Given the description of an element on the screen output the (x, y) to click on. 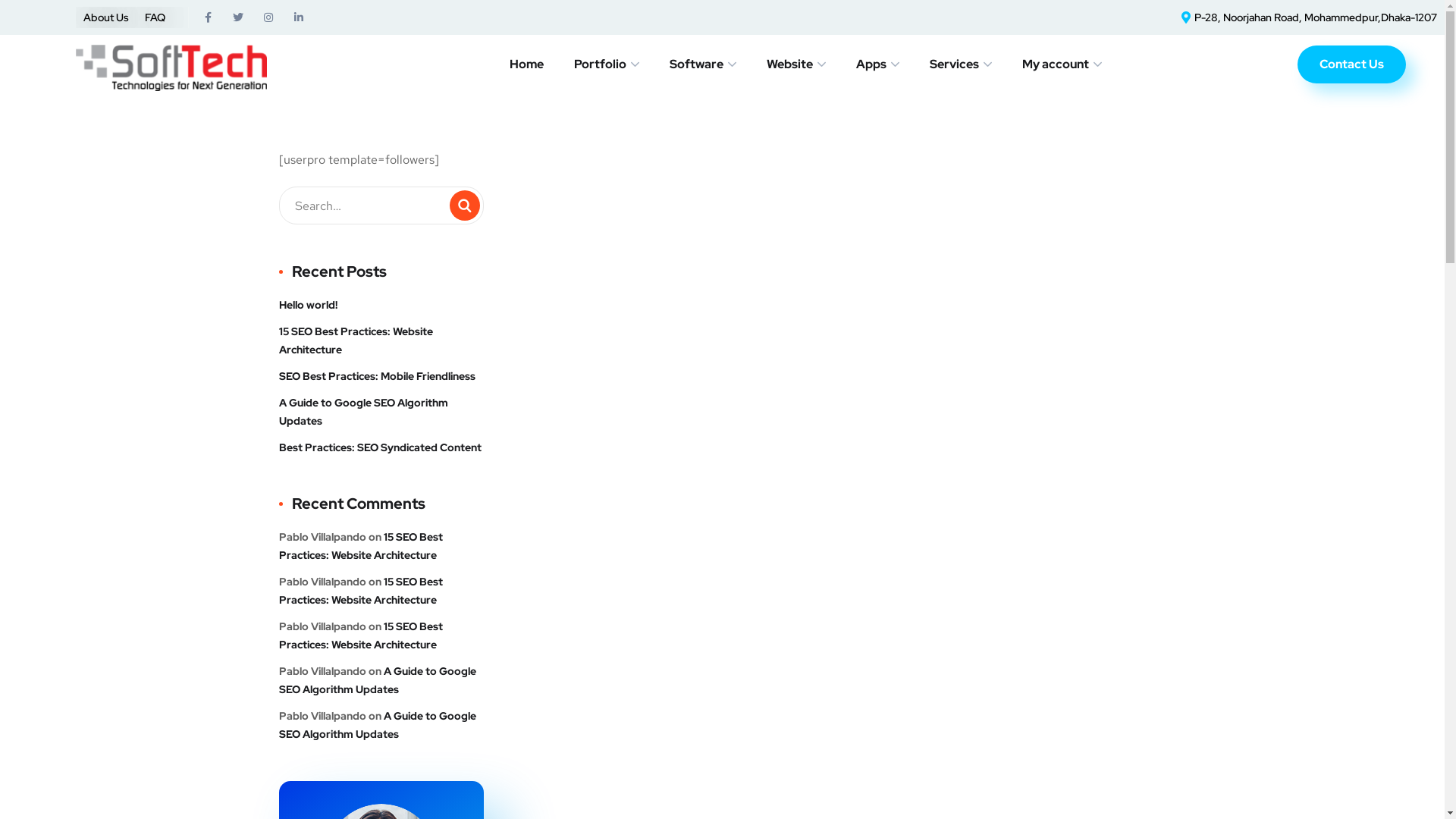
Apps Element type: text (877, 63)
Home Element type: text (526, 63)
15 SEO Best Practices: Website Architecture Element type: text (360, 590)
15 SEO Best Practices: Website Architecture Element type: text (360, 545)
Services Element type: text (960, 63)
A Guide to Google SEO Algorithm Updates Element type: text (377, 724)
15 SEO Best Practices: Website Architecture Element type: text (381, 340)
Hello world! Element type: text (308, 304)
Website Element type: text (795, 63)
SEO Best Practices: Mobile Friendliness Element type: text (377, 376)
Portfolio Element type: text (606, 63)
P-28, Noorjahan Road, Mohammedpur,Dhaka-1207 Element type: text (1306, 17)
Contact Us Element type: text (1351, 64)
My account Element type: text (1061, 63)
FAQ Element type: text (154, 17)
A Guide to Google SEO Algorithm Updates Element type: text (377, 680)
15 SEO Best Practices: Website Architecture Element type: text (360, 635)
About Us Element type: text (105, 17)
Software Element type: text (702, 63)
Best Practices: SEO Syndicated Content Element type: text (380, 447)
A Guide to Google SEO Algorithm Updates Element type: text (381, 411)
